Given the description of an element on the screen output the (x, y) to click on. 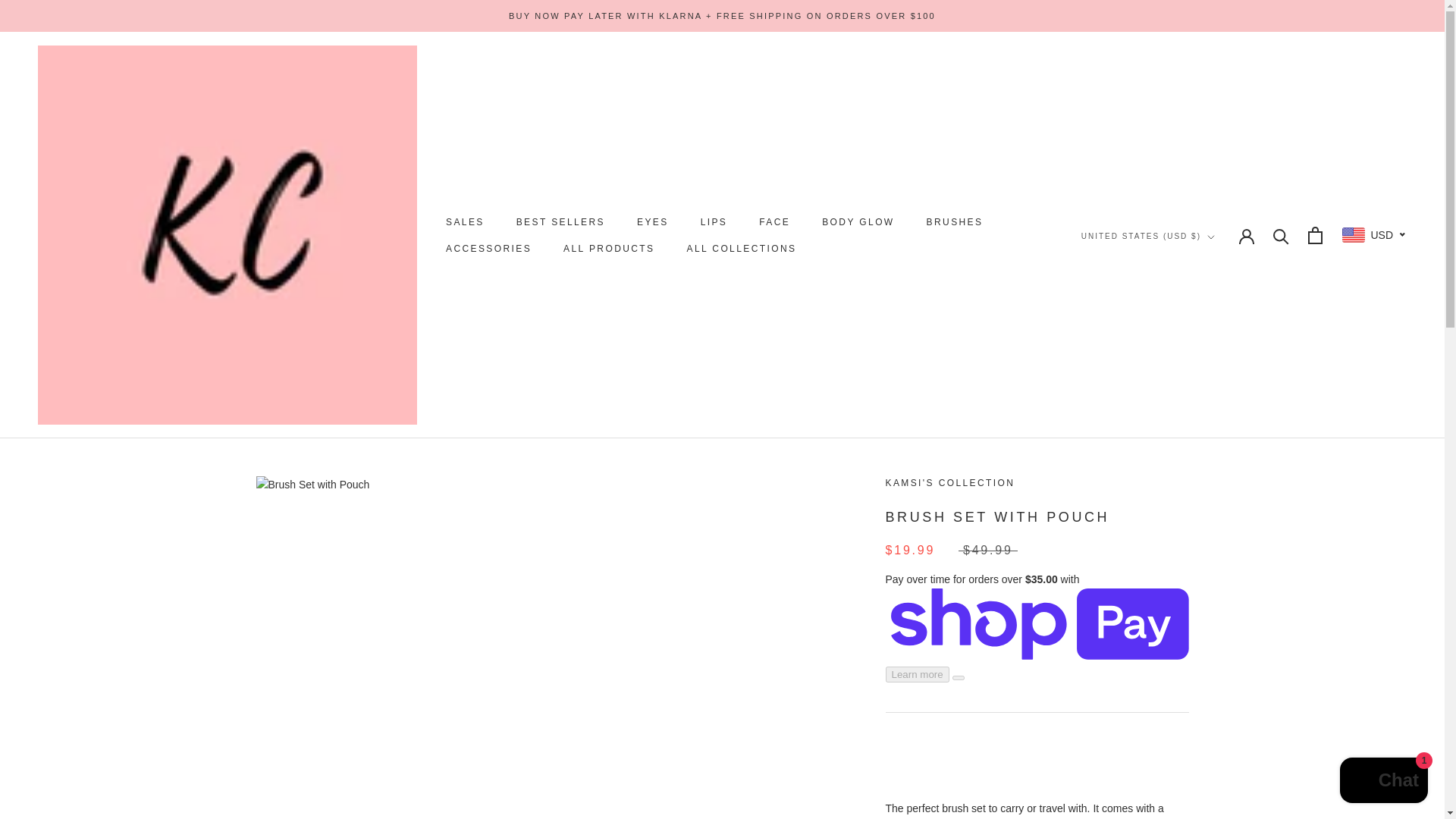
LIPS (714, 222)
Shopify online store chat (560, 222)
EYES (464, 222)
